Given the description of an element on the screen output the (x, y) to click on. 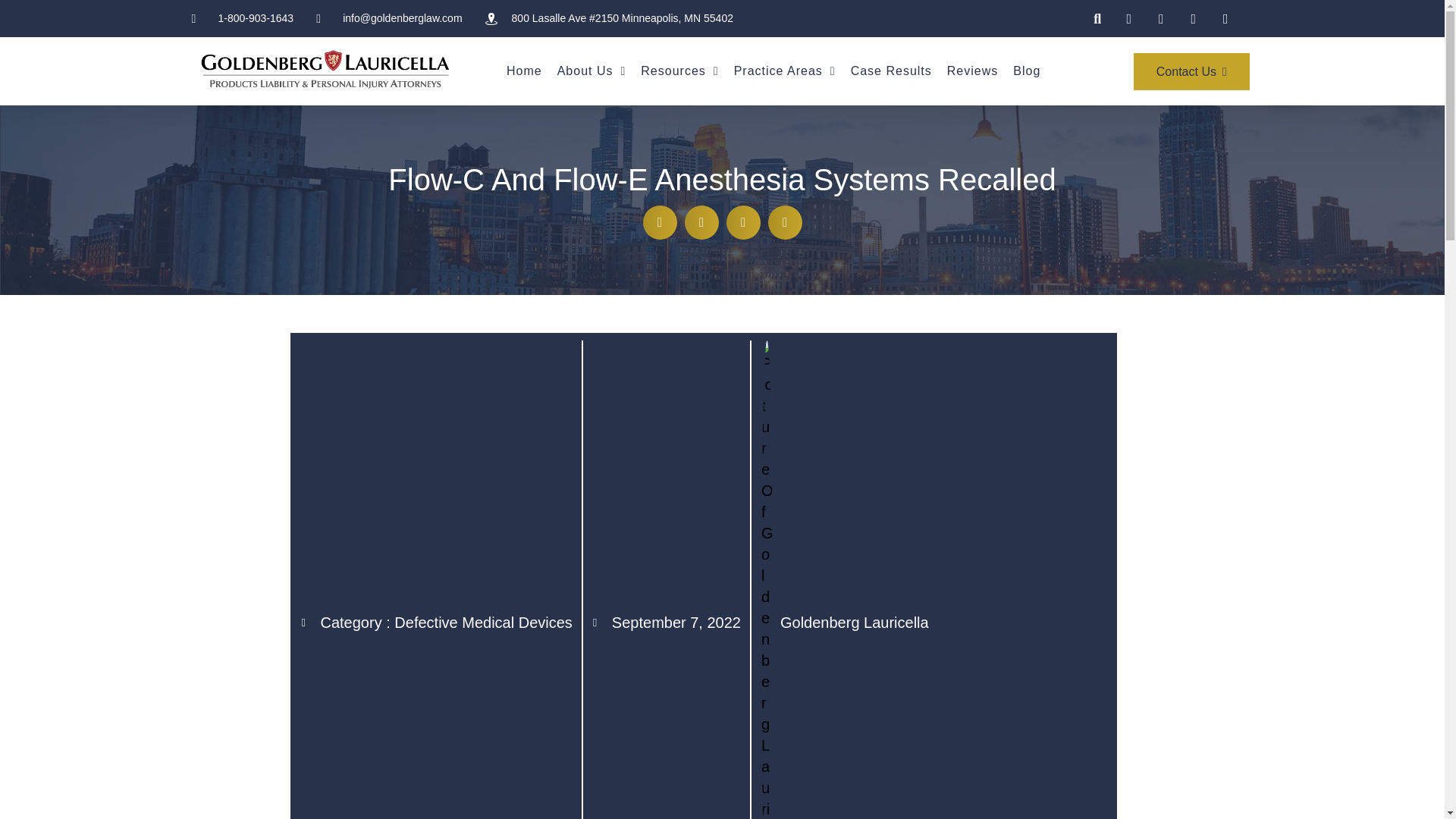
Reviews (972, 71)
Home (523, 71)
1-800-903-1643 (242, 18)
Resources (678, 71)
Case Results (890, 71)
Practice Areas (784, 71)
About Us (591, 71)
